Given the description of an element on the screen output the (x, y) to click on. 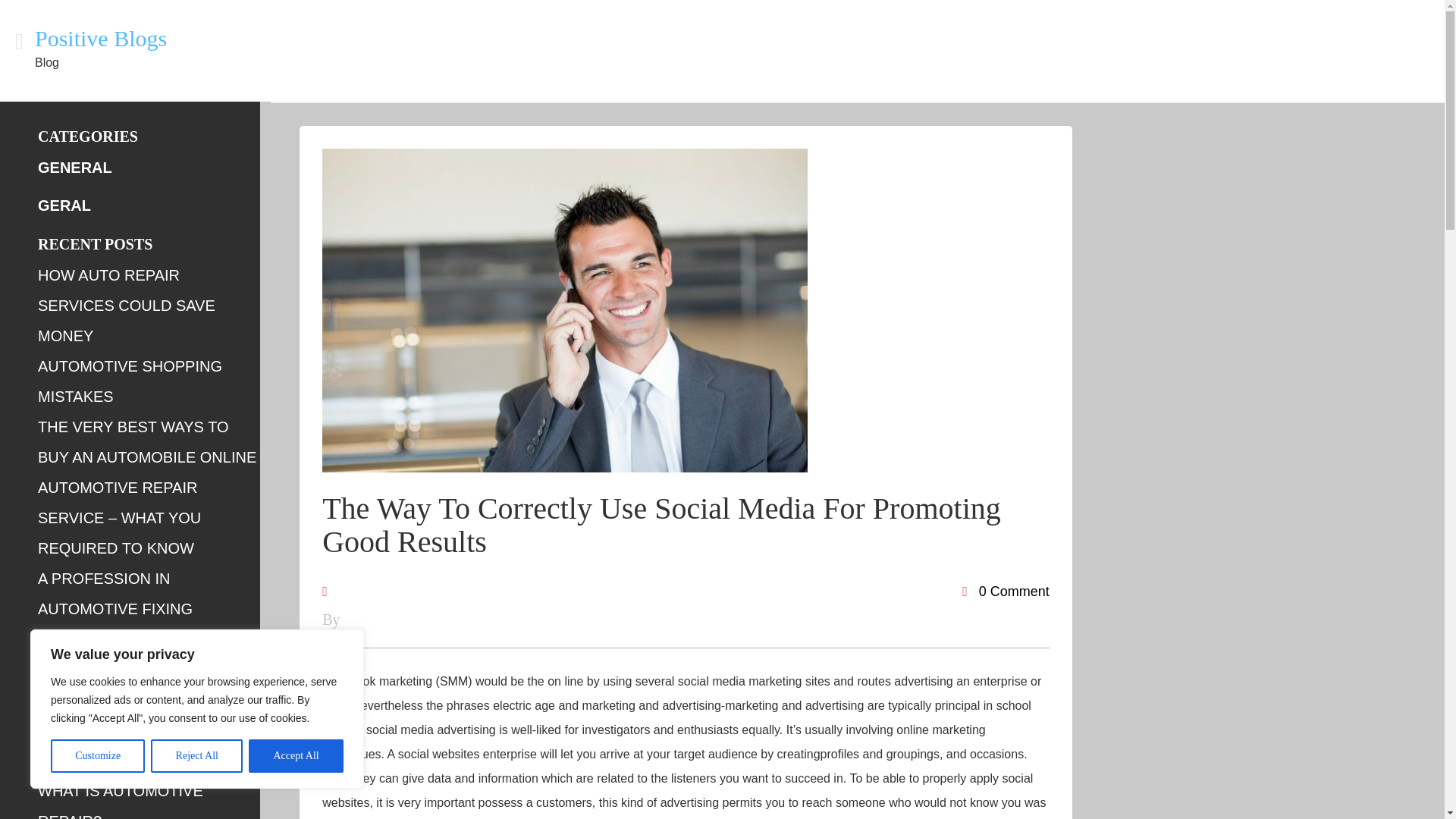
Customize (97, 756)
GENERAL (74, 167)
Positive Blogs (100, 37)
GERAL (63, 205)
Accept All (295, 756)
Reject All (197, 756)
0 Comment (1005, 590)
